Given the description of an element on the screen output the (x, y) to click on. 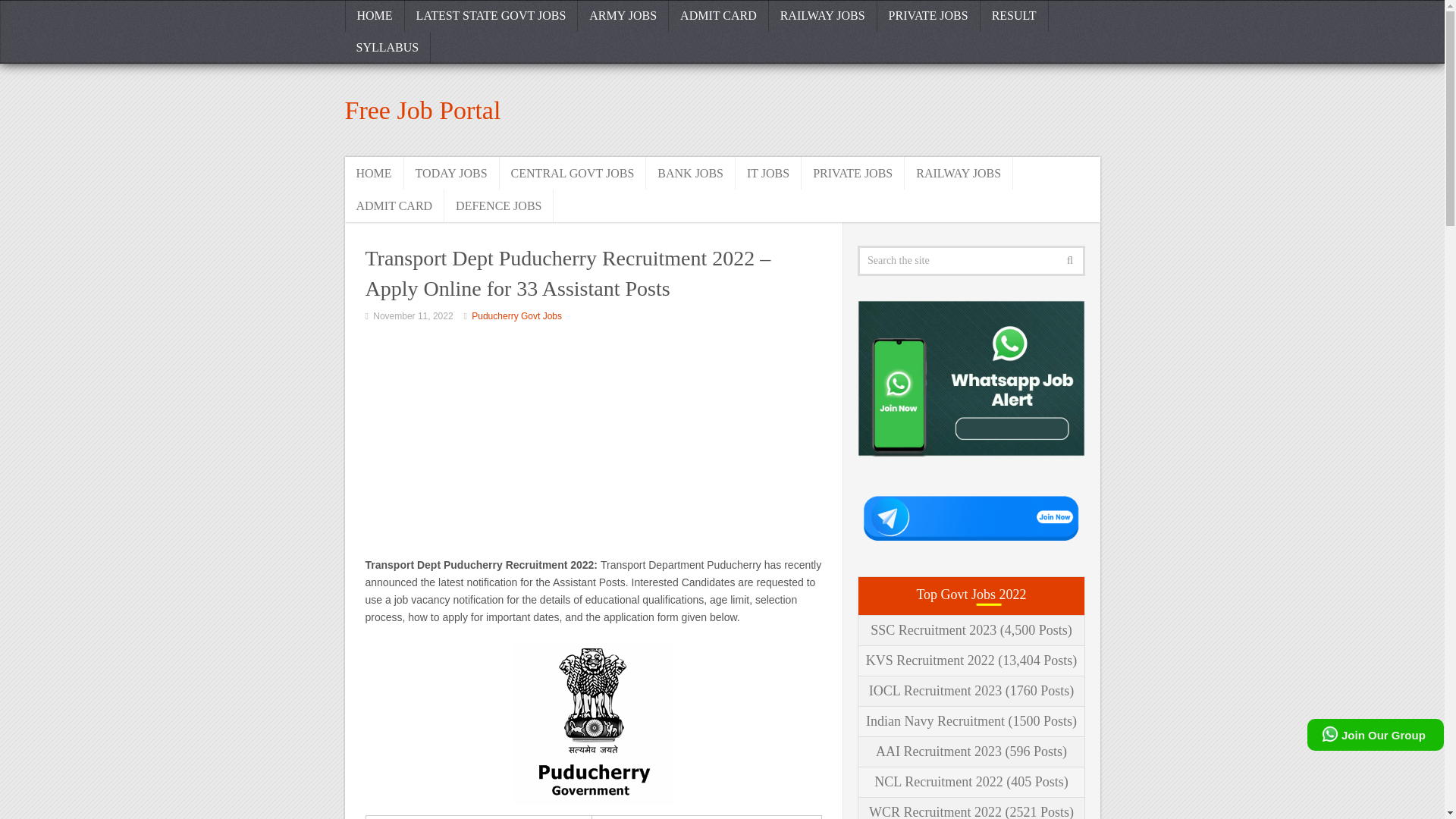
SYLLABUS (386, 47)
View all posts in Puducherry Govt Jobs (516, 316)
HOME (373, 15)
RESULT (1013, 15)
RAILWAY JOBS (822, 15)
CENTRAL GOVT JOBS (572, 173)
ADMIT CARD (393, 205)
LATEST STATE GOVT JOBS (491, 15)
BANK JOBS (690, 173)
IT JOBS (768, 173)
ARMY JOBS (623, 15)
DEFENCE JOBS (498, 205)
Advertisement (593, 442)
RAILWAY JOBS (958, 173)
Free Job Portal (421, 110)
